Given the description of an element on the screen output the (x, y) to click on. 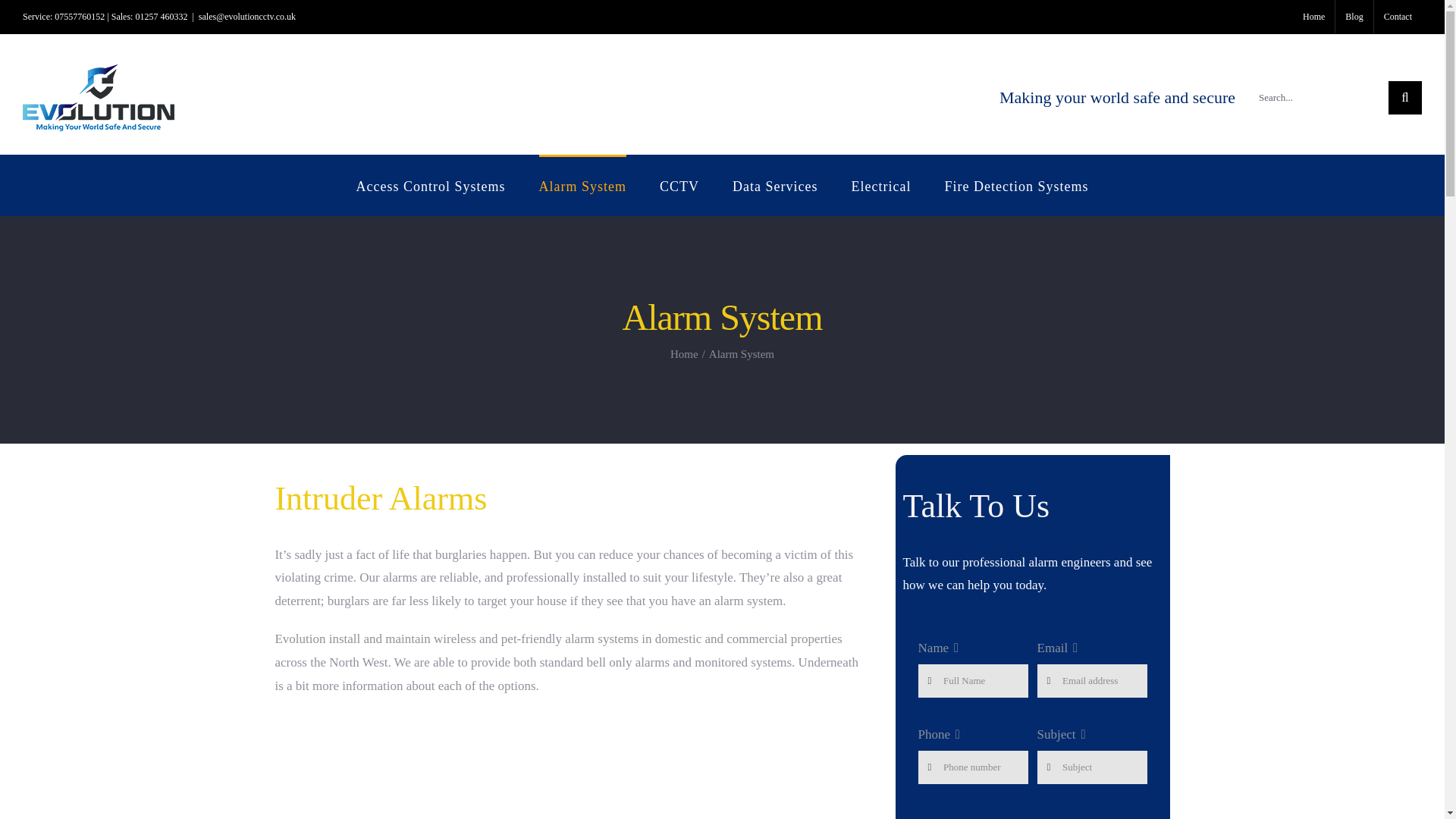
Alarm System (582, 184)
Access Control Systems (430, 184)
Home (1313, 16)
Electrical (881, 184)
Fire Detection Systems (1015, 184)
Blog (1354, 16)
07557760152 (79, 16)
01257 460332 (161, 16)
alarm-web-1 (566, 765)
Contact (1398, 16)
Home (683, 354)
Data Services (774, 184)
